Given the description of an element on the screen output the (x, y) to click on. 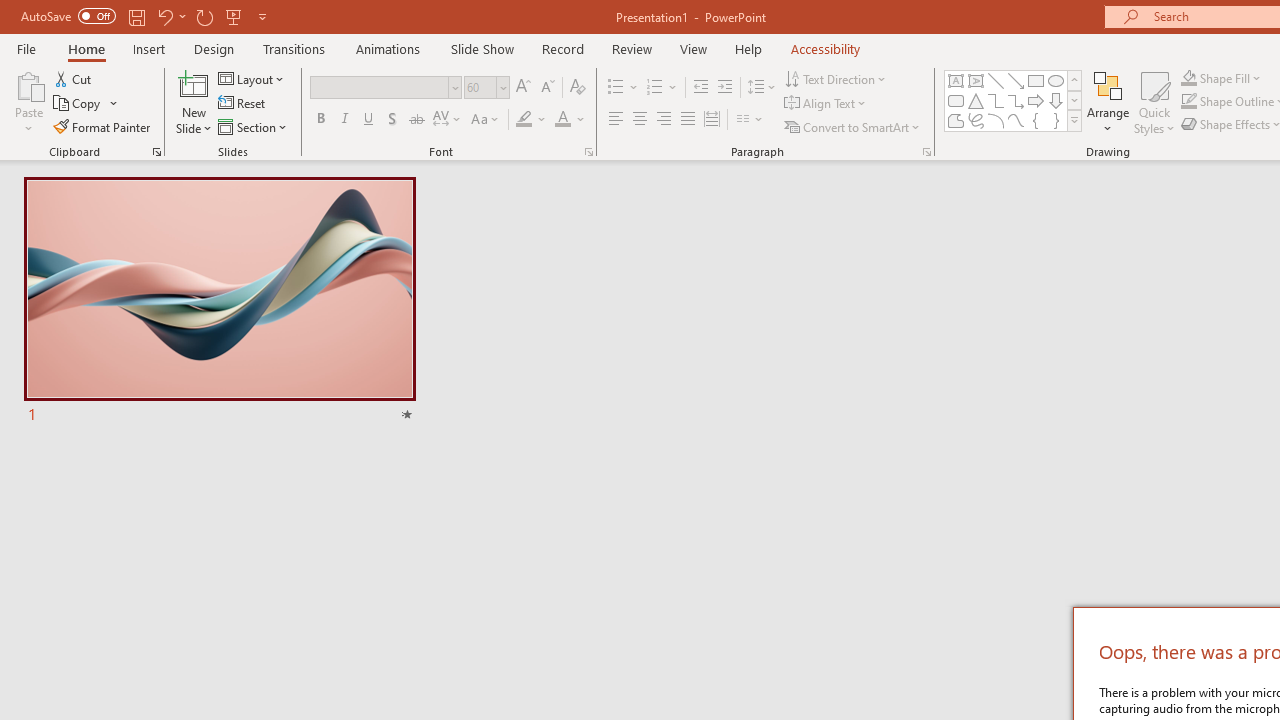
Right Brace (1055, 120)
Reset (243, 103)
Connector: Elbow (995, 100)
Arc (995, 120)
